Given the description of an element on the screen output the (x, y) to click on. 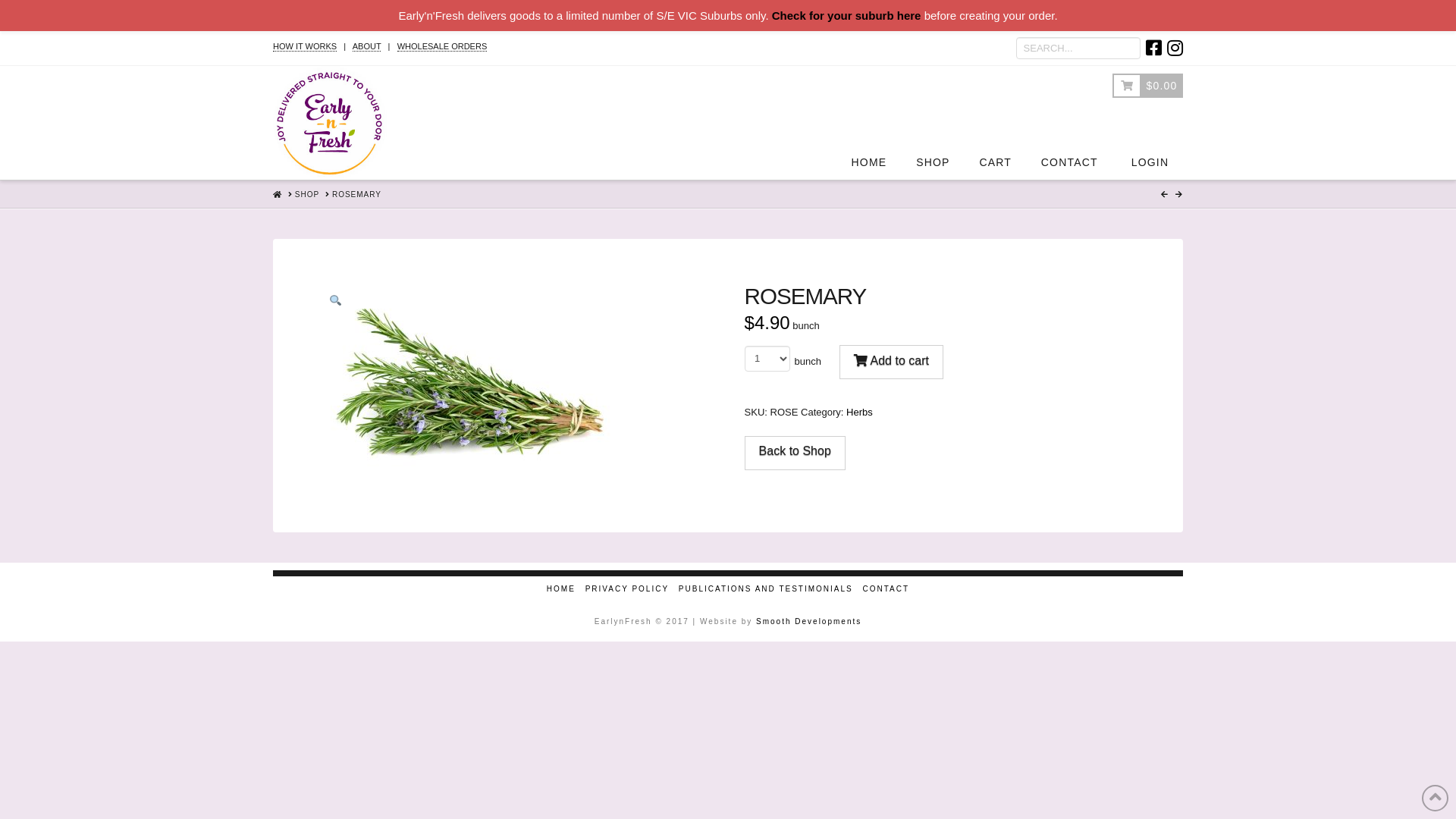
Back to Top Element type: hover (1434, 797)
Facebook Element type: hover (1153, 47)
Back to Shop Element type: text (794, 453)
CART Element type: text (994, 110)
Check for your suburb here Element type: text (846, 15)
SHOP Element type: text (931, 110)
Add to cart Element type: text (891, 362)
Instagram Element type: hover (1175, 47)
Smooth Developments Element type: text (808, 621)
CONTACT Element type: text (1069, 110)
PRIVACY POLICY Element type: text (626, 588)
HOW IT WORKS Element type: text (304, 46)
PUBLICATIONS AND TESTIMONIALS Element type: text (765, 588)
$0.00 Element type: text (1147, 99)
HOME Element type: text (560, 588)
CONTACT Element type: text (886, 588)
ROSEMARY Element type: text (356, 194)
LOGIN Element type: text (1147, 110)
SHOP Element type: text (306, 194)
HOME Element type: text (868, 110)
WHOLESALE ORDERS Element type: text (442, 46)
rosemary Element type: hover (469, 385)
ABOUT Element type: text (366, 46)
HOME Element type: text (277, 193)
Herbs Element type: text (859, 411)
